Given the description of an element on the screen output the (x, y) to click on. 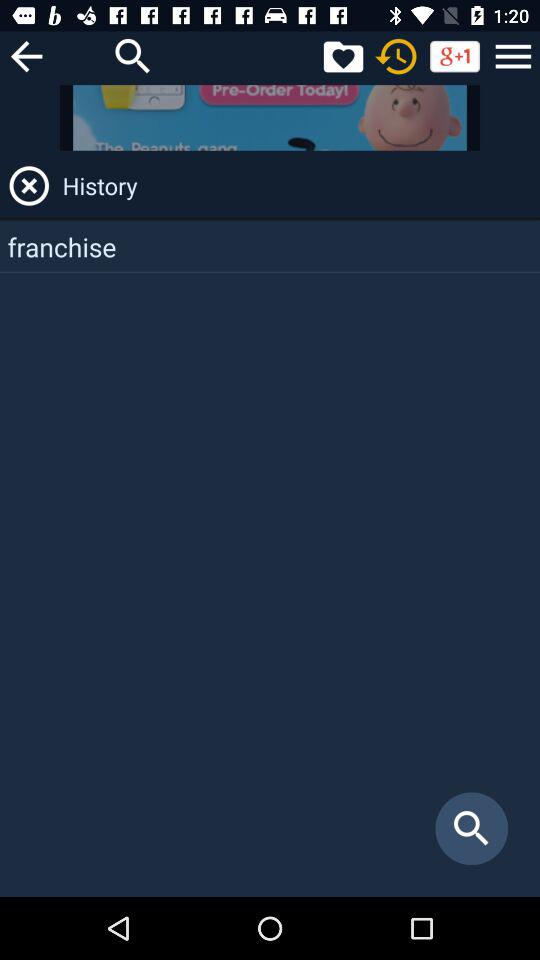
turn on item to the left of history (29, 185)
